Given the description of an element on the screen output the (x, y) to click on. 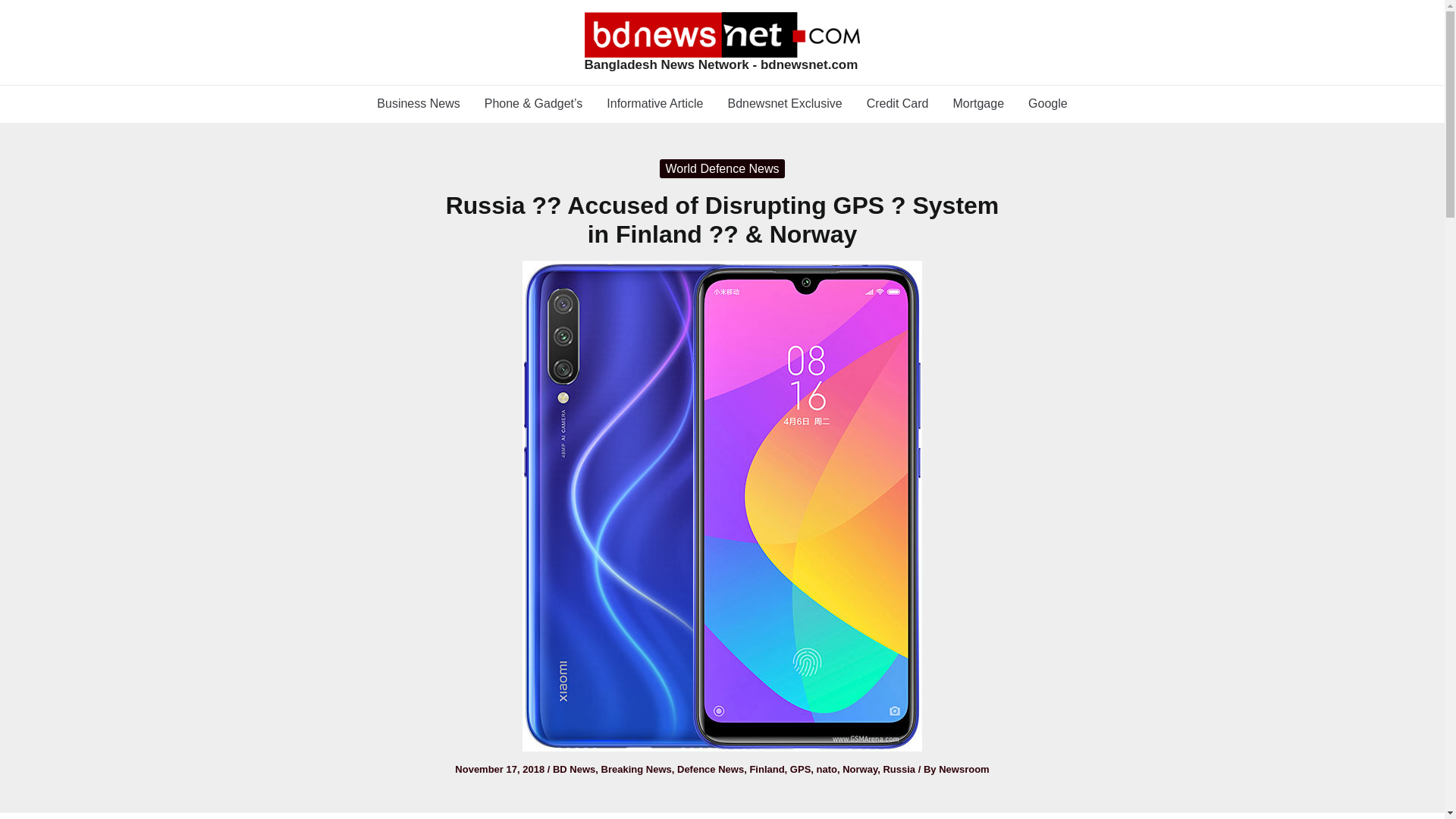
GPS (800, 768)
Finland (766, 768)
View all posts by Newsroom (963, 768)
Defence News (710, 768)
Breaking News (636, 768)
Business News (418, 103)
BD News (574, 768)
Mortgage (978, 103)
World Defence News (722, 168)
Russia (898, 768)
Norway (860, 768)
nato (826, 768)
Informative Article (654, 103)
Credit Card (897, 103)
Bangladesh News Network - bdnewsnet.com (720, 64)
